Given the description of an element on the screen output the (x, y) to click on. 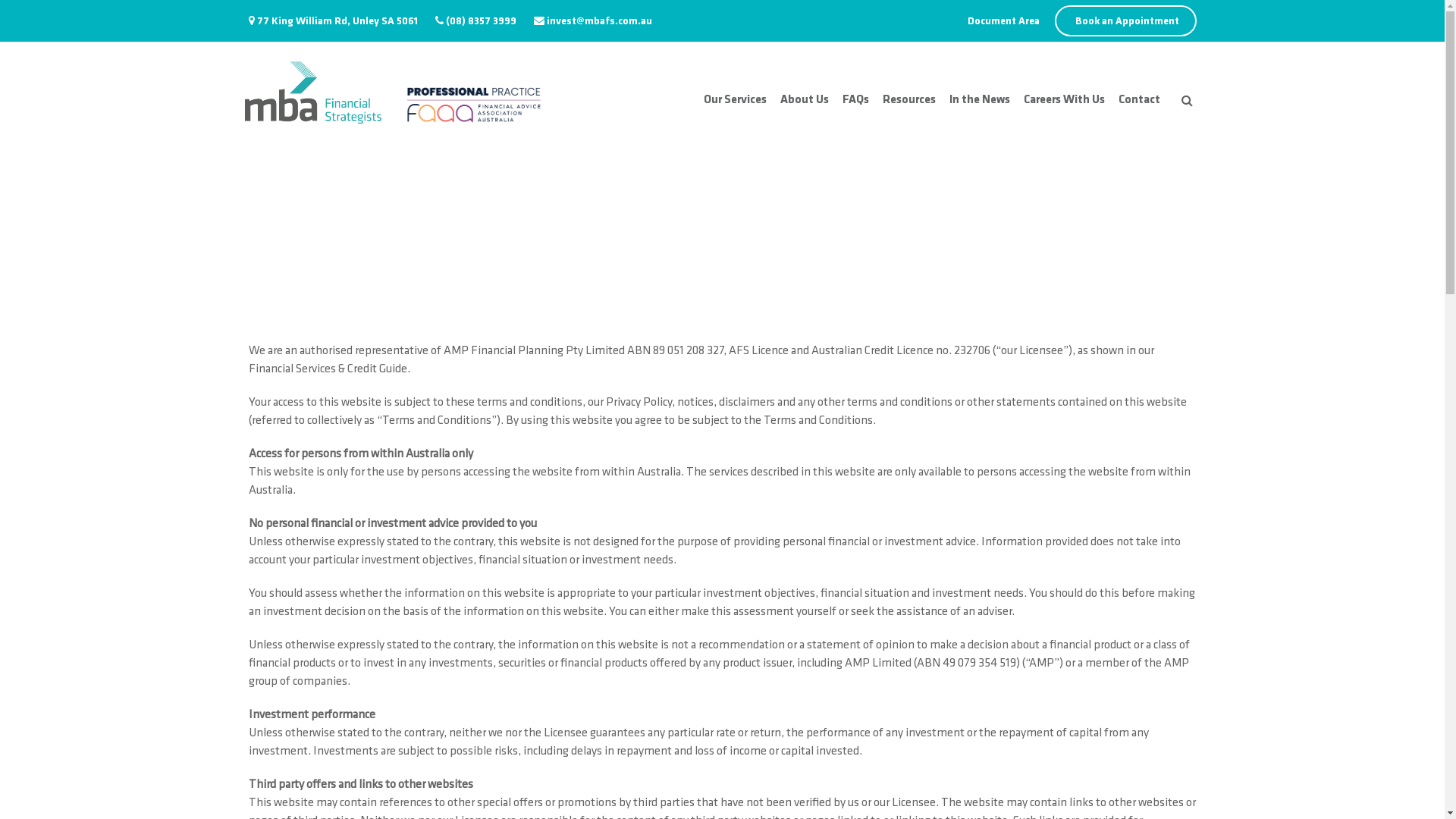
77 King William Rd, Unley SA 5061 Element type: text (336, 21)
Our Services Element type: text (734, 107)
About Us Element type: text (803, 107)
In the News Element type: text (979, 107)
Book an Appointment Element type: text (1124, 20)
FAQs Element type: text (854, 107)
Careers With Us Element type: text (1063, 107)
Resources Element type: text (908, 107)
invest@mbafs.com.au Element type: text (598, 21)
(08) 8357 3999 Element type: text (480, 21)
Contact Element type: text (1138, 107)
Document Area Element type: text (1003, 21)
